Given the description of an element on the screen output the (x, y) to click on. 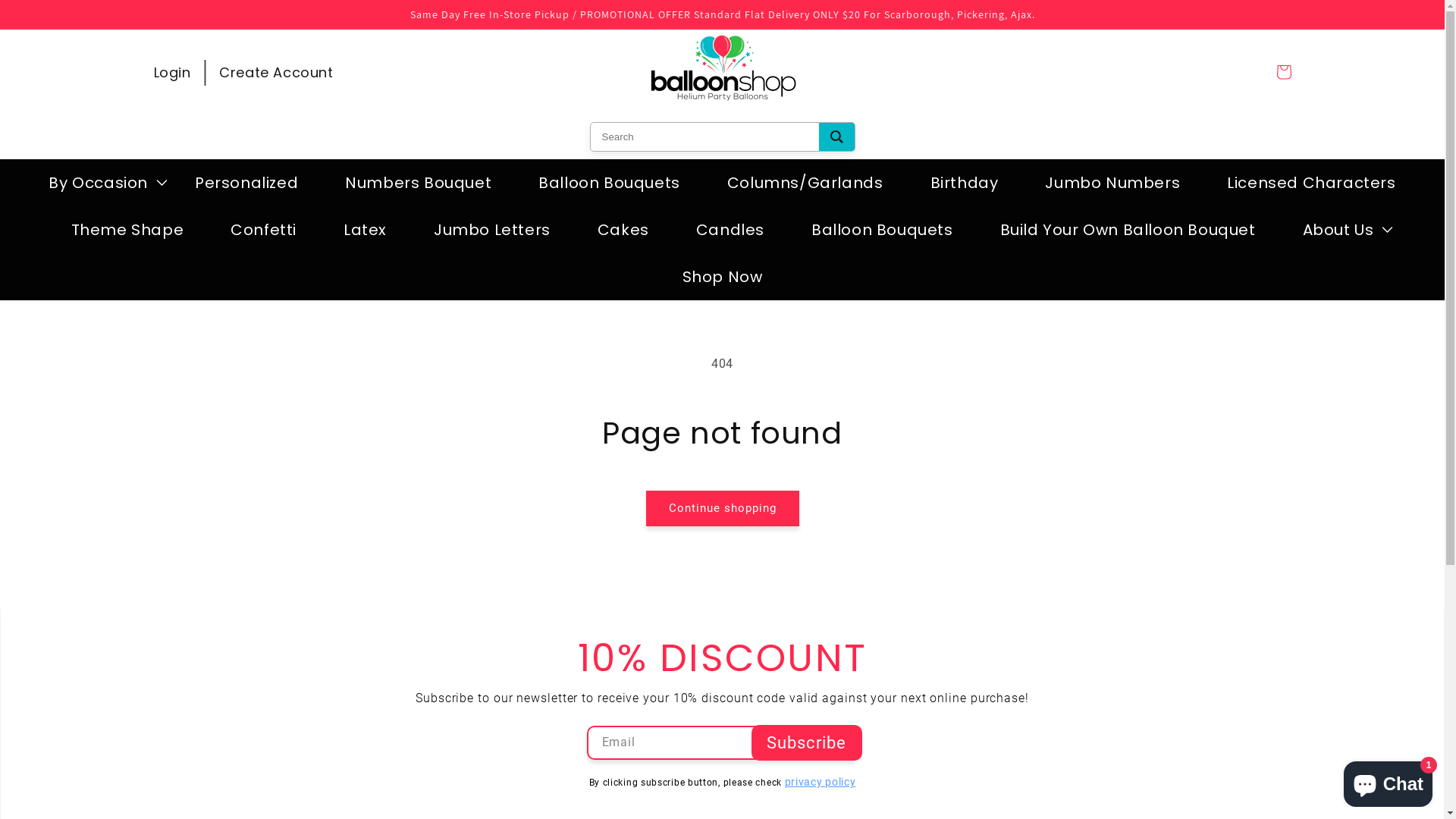
Licensed Characters Element type: text (1310, 182)
Subscribe Element type: text (806, 742)
Jumbo Numbers Element type: text (1112, 182)
Shopify online store chat Element type: hover (1388, 780)
Login Element type: text (171, 71)
Confetti Element type: text (263, 229)
Columns/Garlands Element type: text (804, 182)
Cakes Element type: text (623, 229)
Continue shopping Element type: text (722, 508)
Birthday Element type: text (964, 182)
Jumbo Letters Element type: text (492, 229)
Numbers Bouquet Element type: text (417, 182)
Build Your Own Balloon Bouquet Element type: text (1127, 229)
Theme Shape Element type: text (127, 229)
Balloon Bouquets Element type: text (881, 229)
Latex Element type: text (365, 229)
Candles Element type: text (729, 229)
Balloon Bouquets Element type: text (608, 182)
Personalized Element type: text (246, 182)
Create Account Element type: text (275, 71)
Cart Element type: text (1282, 71)
privacy policy Element type: text (820, 781)
Shop Now Element type: text (722, 276)
